Given the description of an element on the screen output the (x, y) to click on. 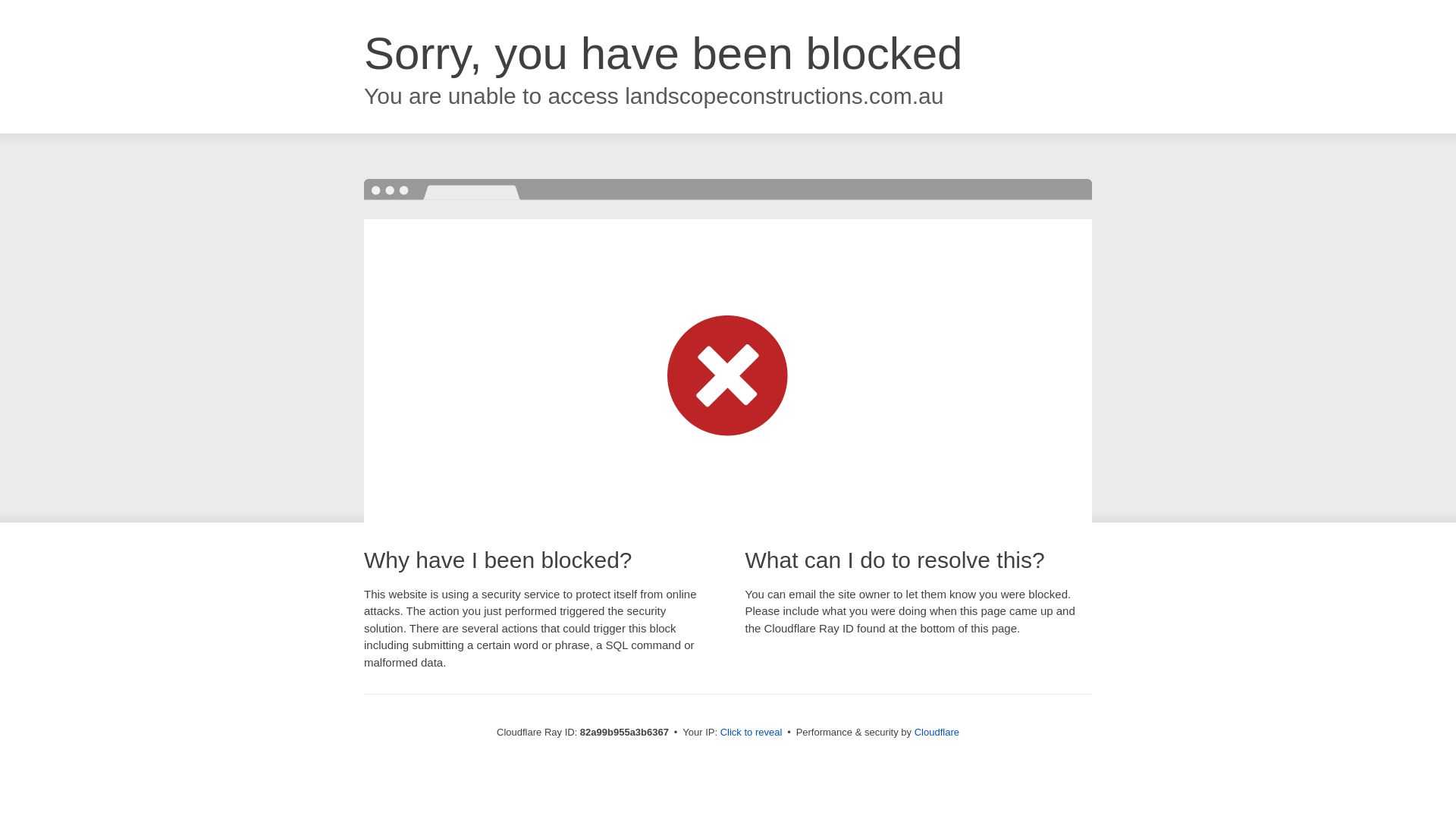
Click to reveal Element type: text (751, 732)
Cloudflare Element type: text (936, 731)
